Given the description of an element on the screen output the (x, y) to click on. 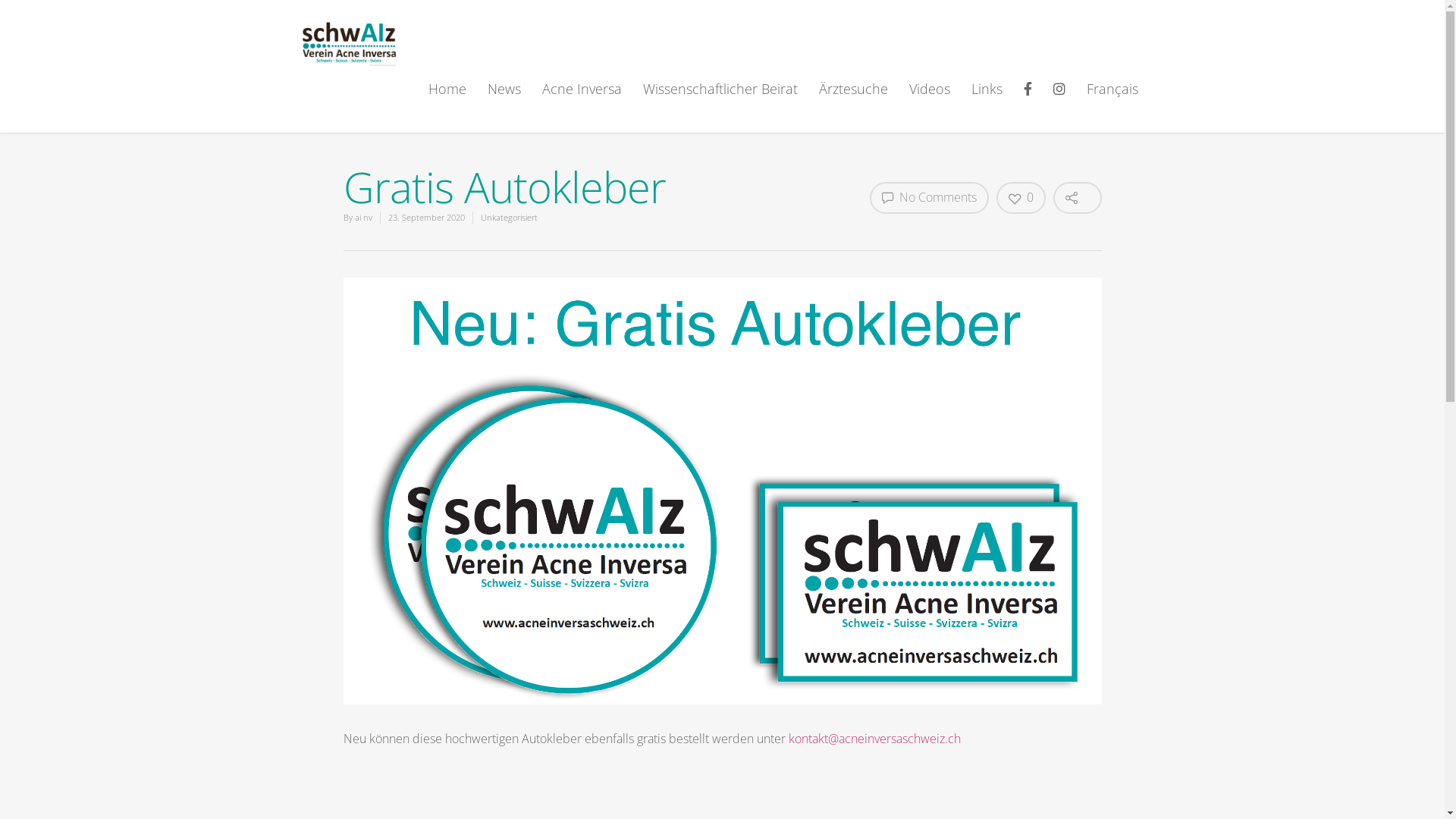
ai nv Element type: text (363, 216)
Home Element type: text (447, 99)
0 Element type: text (1020, 197)
No Comments Element type: text (928, 197)
kontakt@acneinversaschweiz.ch Element type: text (874, 738)
News Element type: text (503, 99)
Links Element type: text (986, 99)
Videos Element type: text (929, 99)
Wissenschaftlicher Beirat Element type: text (719, 99)
Acne Inversa Element type: text (581, 99)
Unkategorisiert Element type: text (508, 216)
